Given the description of an element on the screen output the (x, y) to click on. 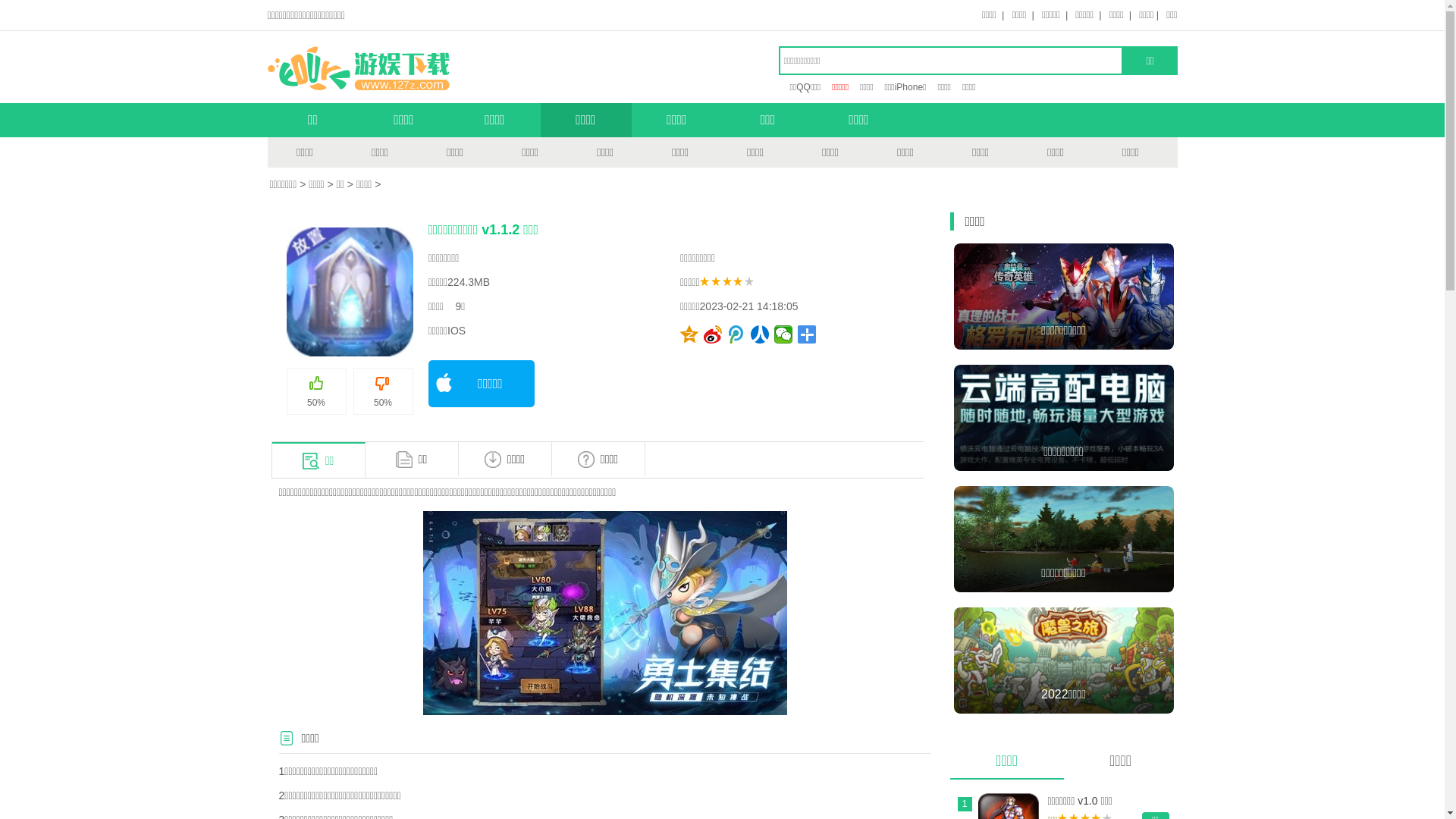
50% Element type: text (316, 390)
50% Element type: text (383, 390)
